Given the description of an element on the screen output the (x, y) to click on. 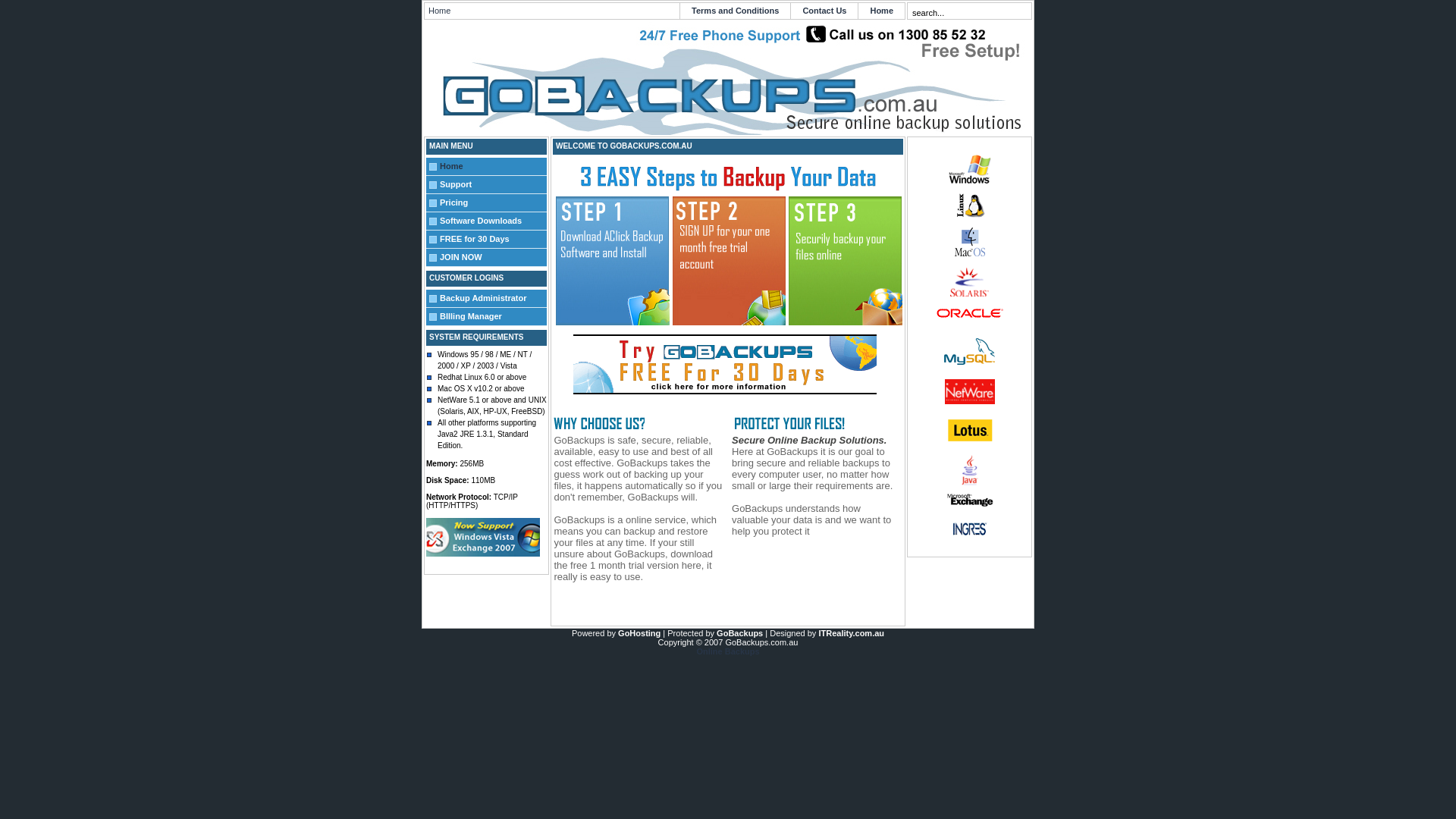
GoBackups - Why choose us? Element type: hover (598, 422)
Netware Element type: hover (968, 391)
Oracle Element type: hover (969, 312)
STEP 2 - Sign up for you 30 day free trial account Element type: hover (729, 260)
ITReality.com.au Element type: text (851, 632)
STEP 3 -  securily backup your files online Element type: hover (845, 260)
GoBackups Element type: text (739, 632)
Step 3 Element type: hover (845, 321)
Solaris Element type: hover (969, 281)
Terms and Conditions Element type: text (735, 10)
Contact Us Element type: text (823, 10)
JOIN NOW Element type: text (493, 257)
Click here Try GoBackups free for 30 Days!!! Element type: hover (724, 363)
Apple Mac OS Element type: hover (969, 242)
Backup Administrator Element type: text (493, 298)
Step 1 Element type: hover (612, 321)
3 Easy Steps to backup your data Element type: hover (727, 177)
Java Element type: hover (969, 470)
MySQL Element type: hover (969, 351)
Microsoft Windows Element type: hover (969, 168)
Home Element type: text (493, 166)
Exchange Element type: hover (968, 500)
Support Element type: text (493, 184)
GoHosting Element type: text (639, 632)
Home Element type: text (881, 10)
Pricing Element type: text (493, 203)
Software Downloads Element type: text (493, 221)
STEP ONE  - Download A-Click Backup Software and Install Element type: hover (612, 260)
Lotus Notes Element type: hover (969, 430)
FREE for 30 Days Element type: text (493, 239)
Online Backups Element type: text (727, 650)
BIlling Manager Element type: text (493, 316)
Linux Element type: hover (968, 205)
